Given the description of an element on the screen output the (x, y) to click on. 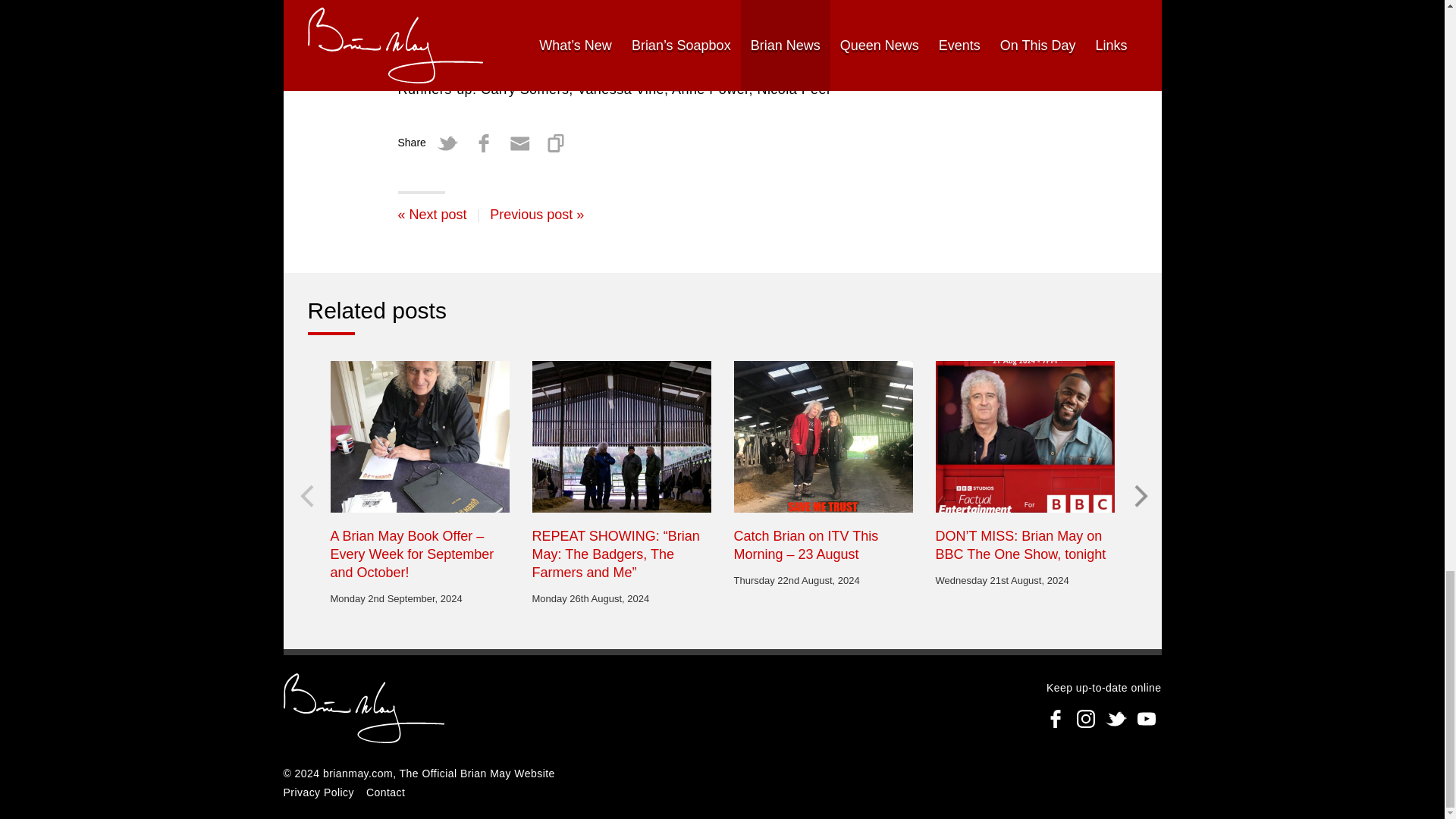
Follow BrianMay.com on facebook (1055, 718)
Follow Brian May on Twitter (1115, 718)
brianmay.com (364, 710)
Follow Brian May on YouTube (1146, 718)
Follow BrianMay.com on Instagram (1085, 718)
brianmay.com (358, 773)
